Given the description of an element on the screen output the (x, y) to click on. 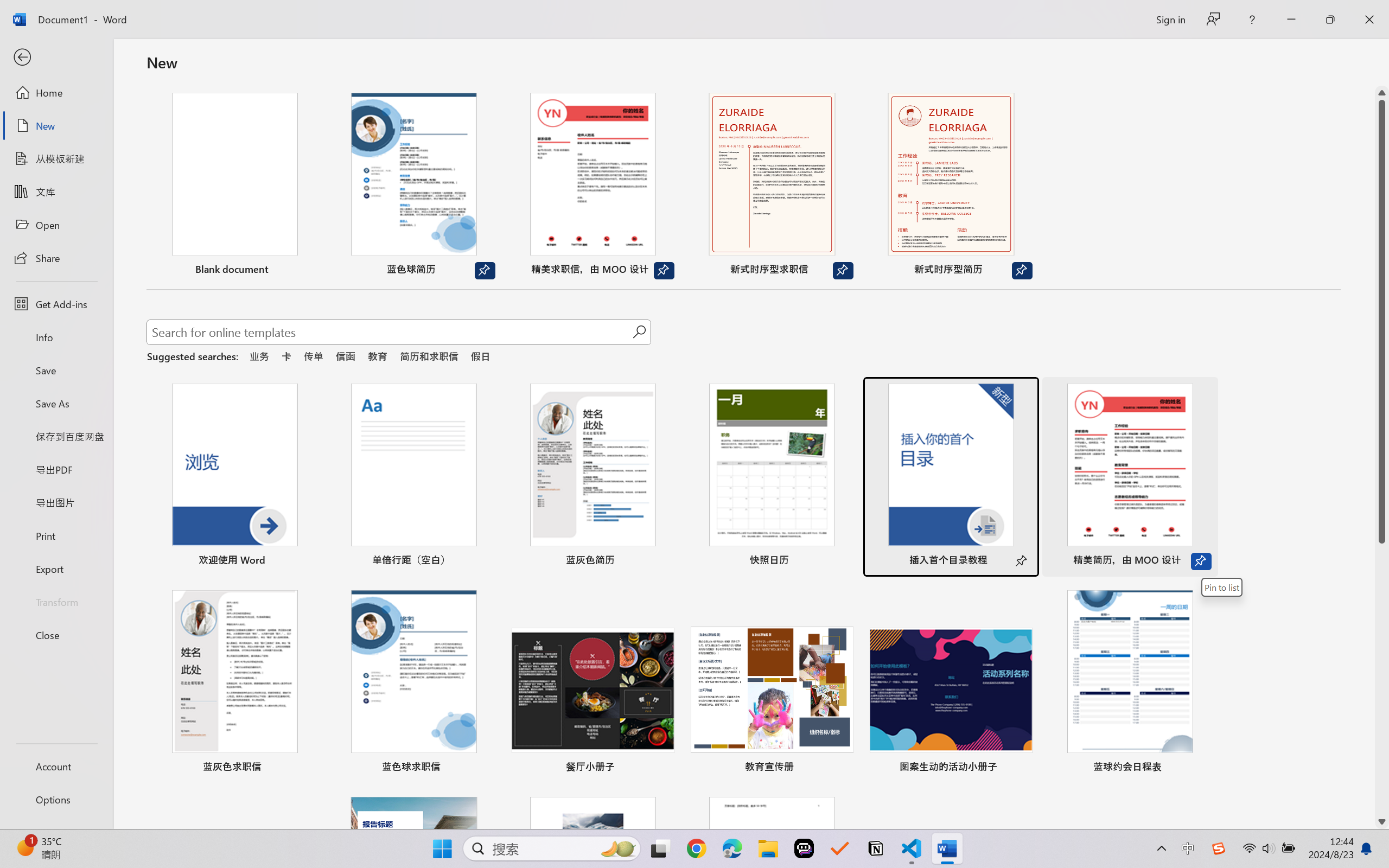
Page down (1382, 679)
Options (56, 798)
Start searching (638, 332)
Pin to list (1222, 587)
